Given the description of an element on the screen output the (x, y) to click on. 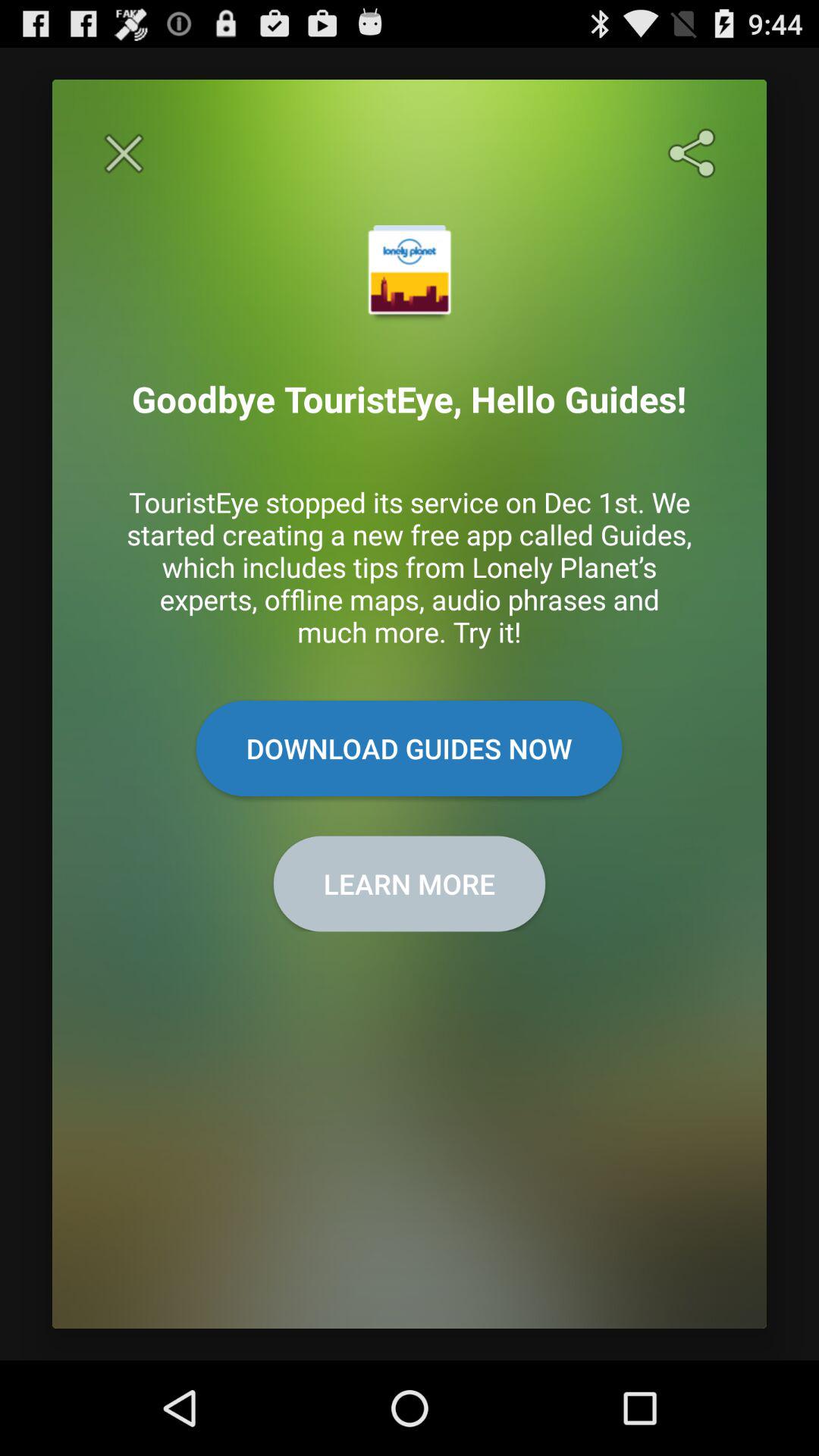
swipe to download guides now button (409, 748)
